Given the description of an element on the screen output the (x, y) to click on. 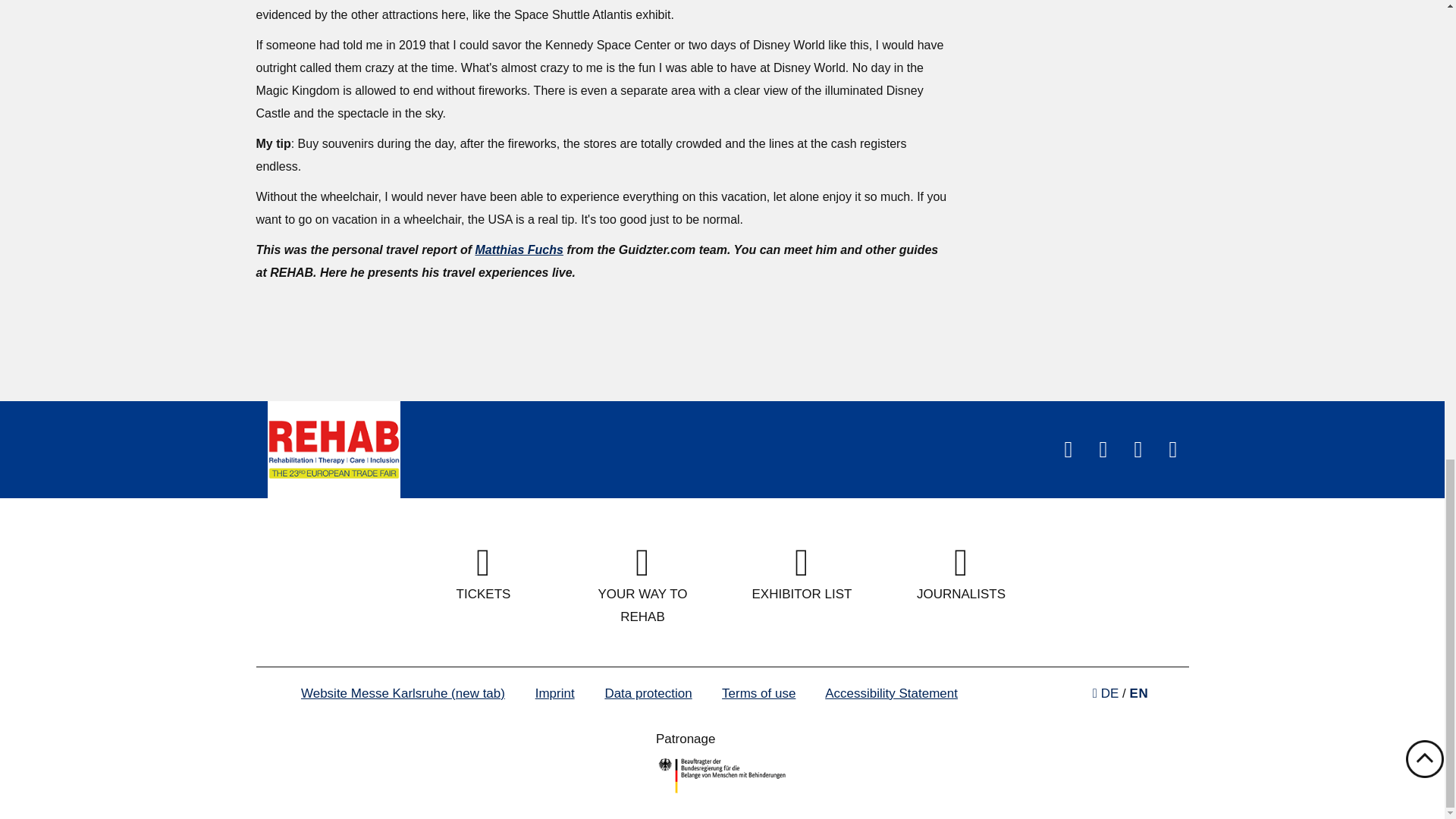
Exhibitor list (801, 574)
opens subpage journalists (961, 574)
home (332, 449)
Tickets (482, 574)
Your way to REHAB (643, 585)
